Given the description of an element on the screen output the (x, y) to click on. 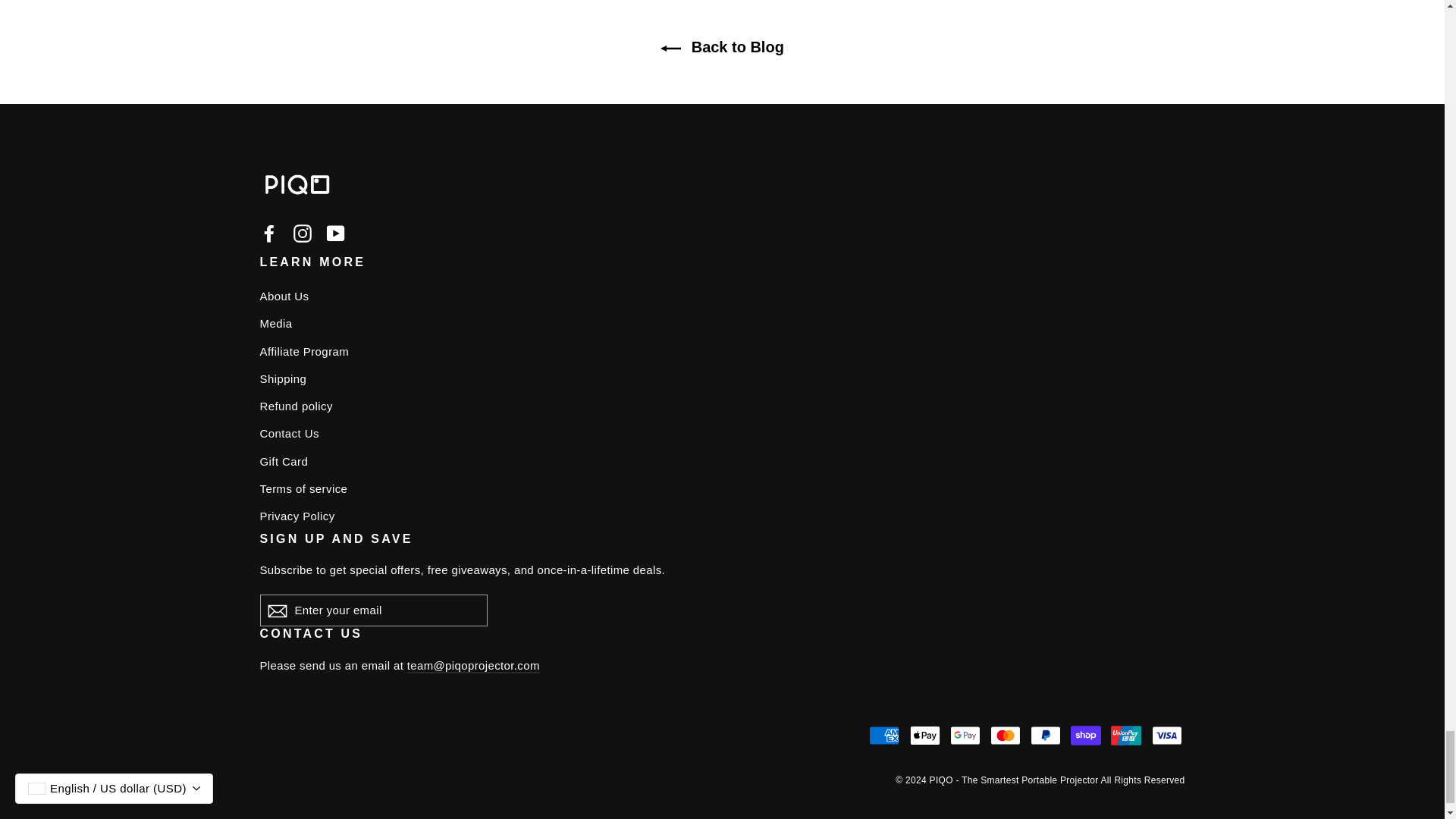
Union Pay (1125, 735)
PayPal (1045, 735)
American Express (884, 735)
PIQO - The Smartest Portable Projector on YouTube (335, 232)
Mastercard (1005, 735)
Google Pay (964, 735)
Apple Pay (925, 735)
Shop Pay (1085, 735)
Visa (1165, 735)
PIQO - The Smartest Portable Projector on Instagram (302, 232)
